Given the description of an element on the screen output the (x, y) to click on. 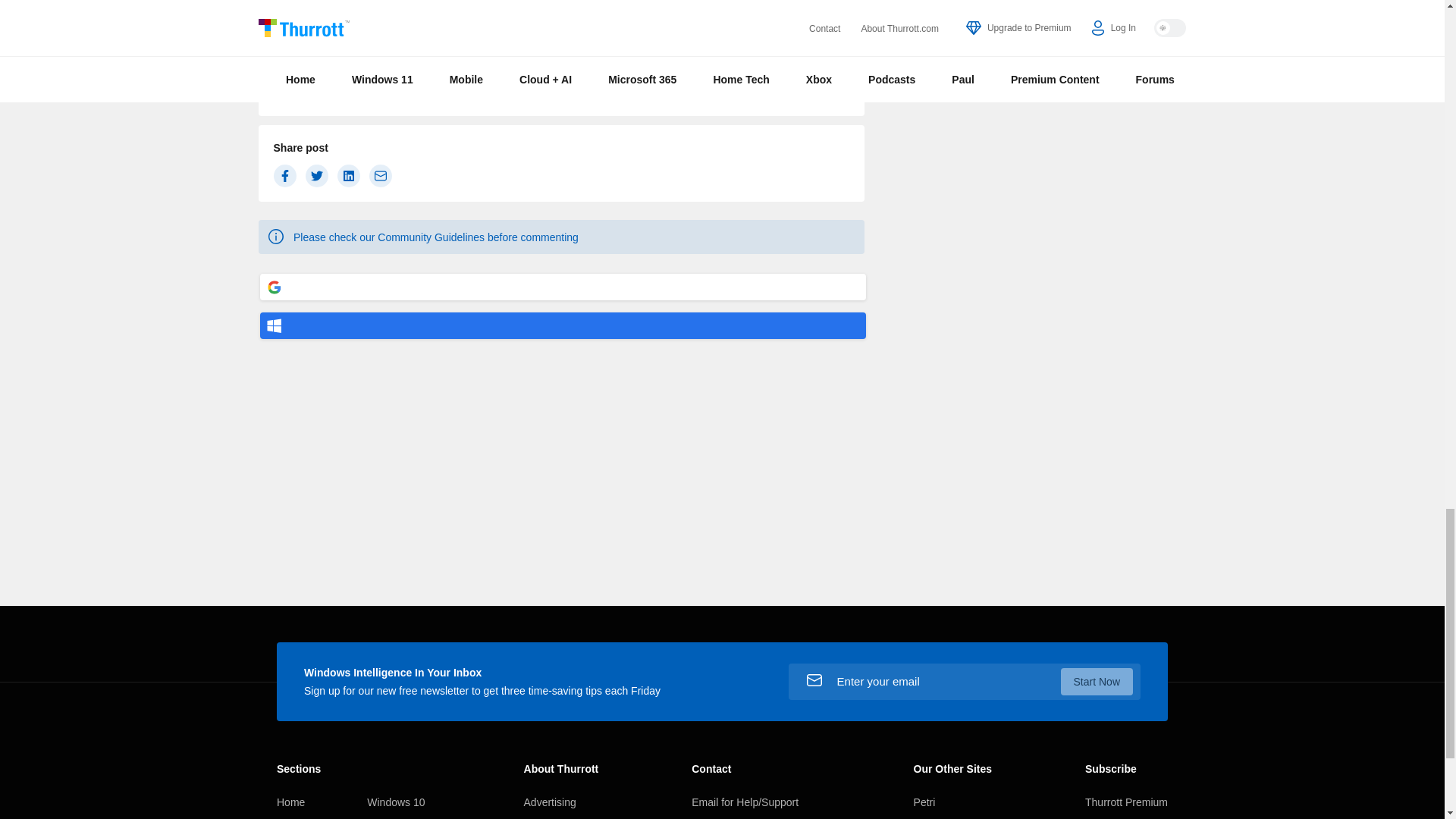
Start Now (1096, 681)
Login with Google (563, 286)
Login with Microsoft (563, 325)
